Given the description of an element on the screen output the (x, y) to click on. 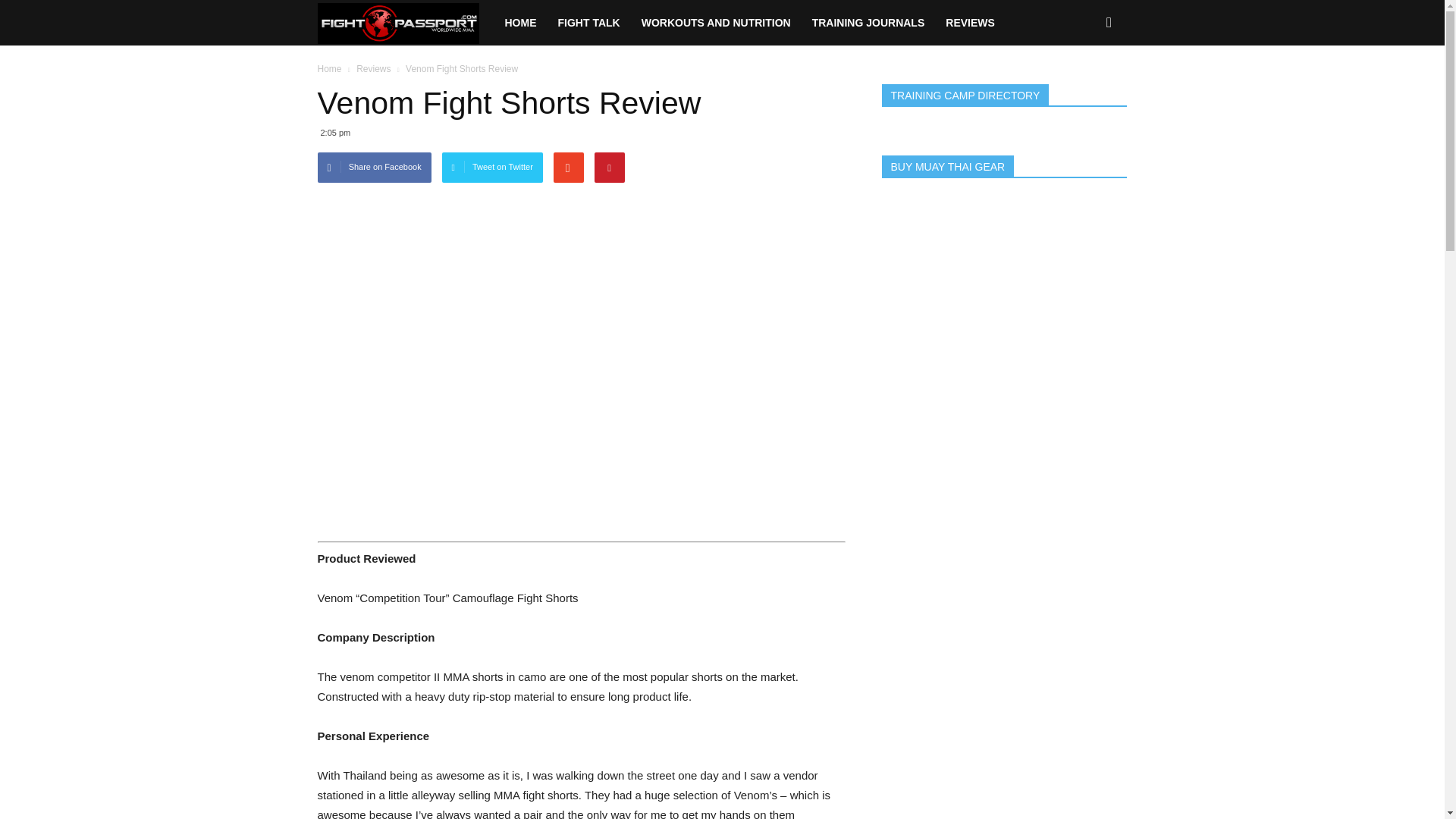
Tweet on Twitter (492, 167)
FIGHT TALK (588, 22)
TRAINING JOURNALS (869, 22)
Reviews (373, 68)
Fight Passport (405, 22)
REVIEWS (970, 22)
WORKOUTS AND NUTRITION (716, 22)
HOME (521, 22)
Home (328, 68)
Share on Facebook (373, 167)
